Given the description of an element on the screen output the (x, y) to click on. 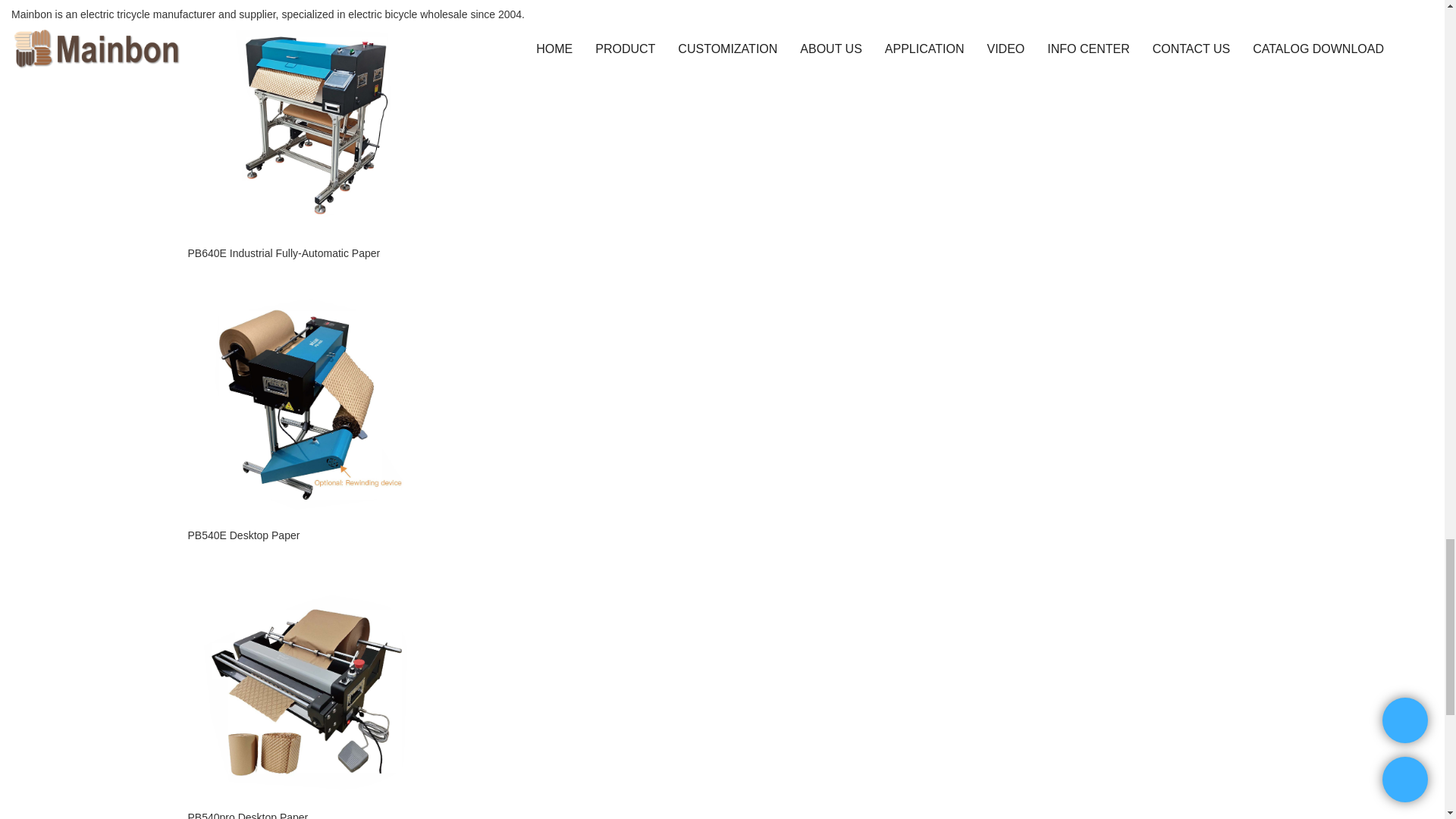
PB640E Industrial Fully-Automatic Paper (306, 252)
PB540pro Desktop Paper (306, 814)
PB540E Desktop Paper (306, 535)
